Given the description of an element on the screen output the (x, y) to click on. 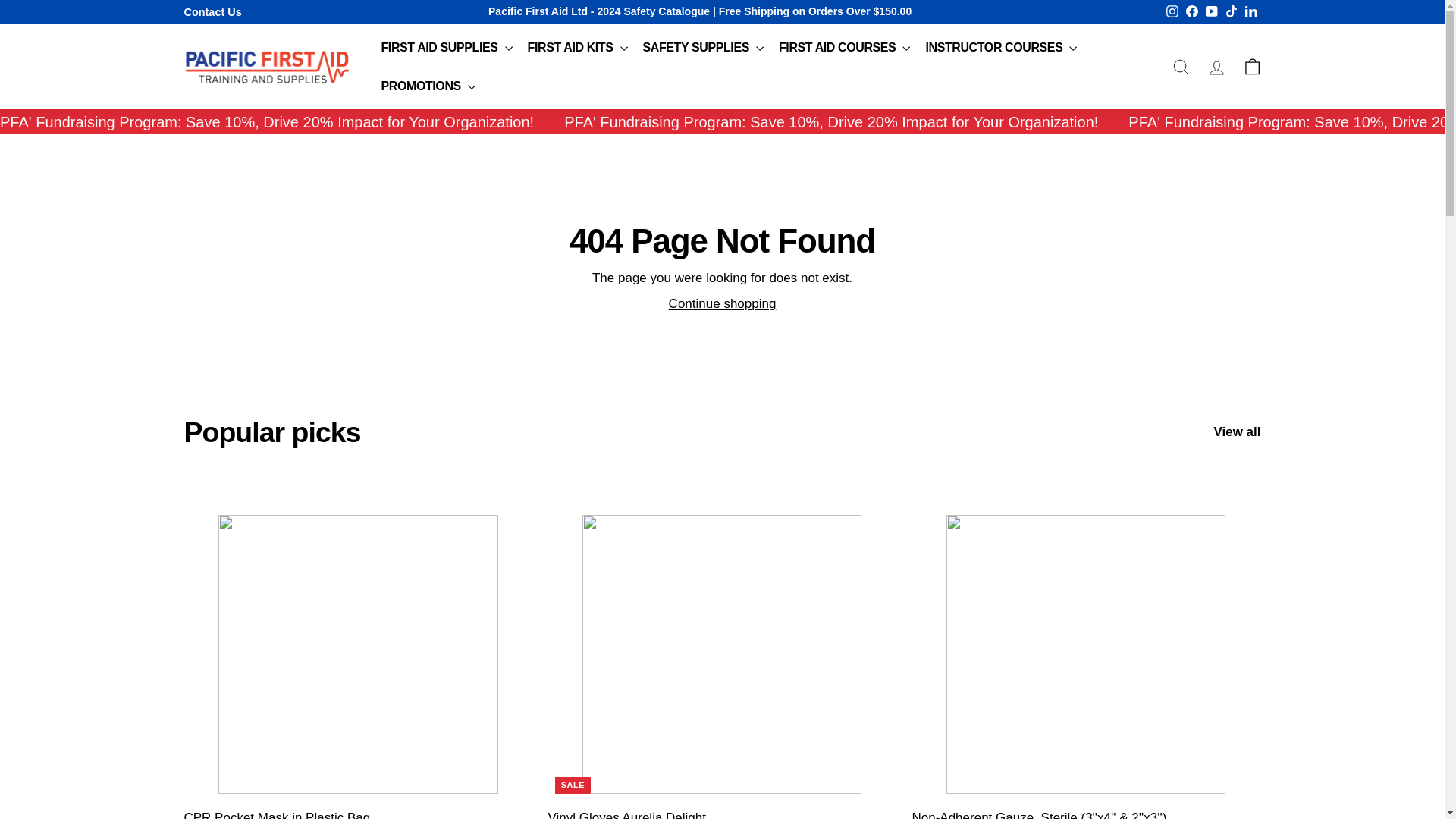
Contact Us (212, 11)
Pacific First Aid Ltd - 2023 Safety Catalogue (598, 10)
instagram (1171, 10)
Pacific First Aid Ltd - 2024 Safety Catalogue (598, 10)
